Given the description of an element on the screen output the (x, y) to click on. 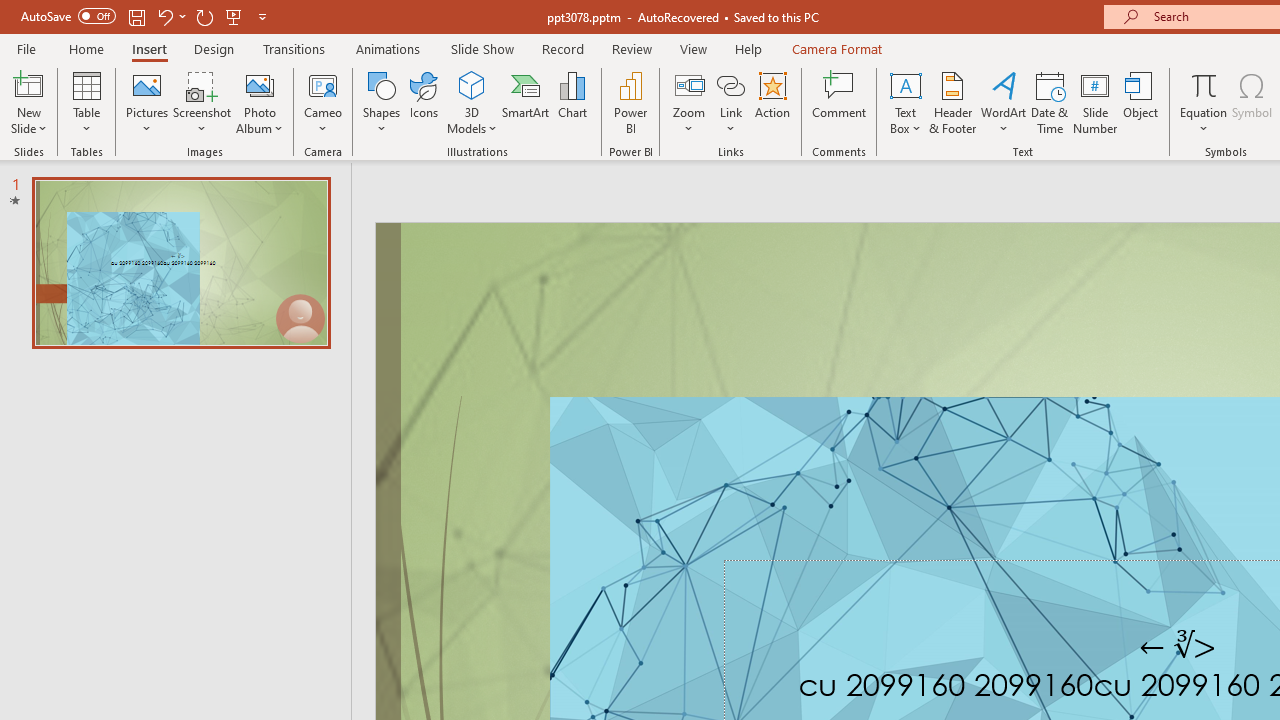
Date & Time... (1050, 102)
Icons (424, 102)
Header & Footer... (952, 102)
SmartArt... (525, 102)
